Given the description of an element on the screen output the (x, y) to click on. 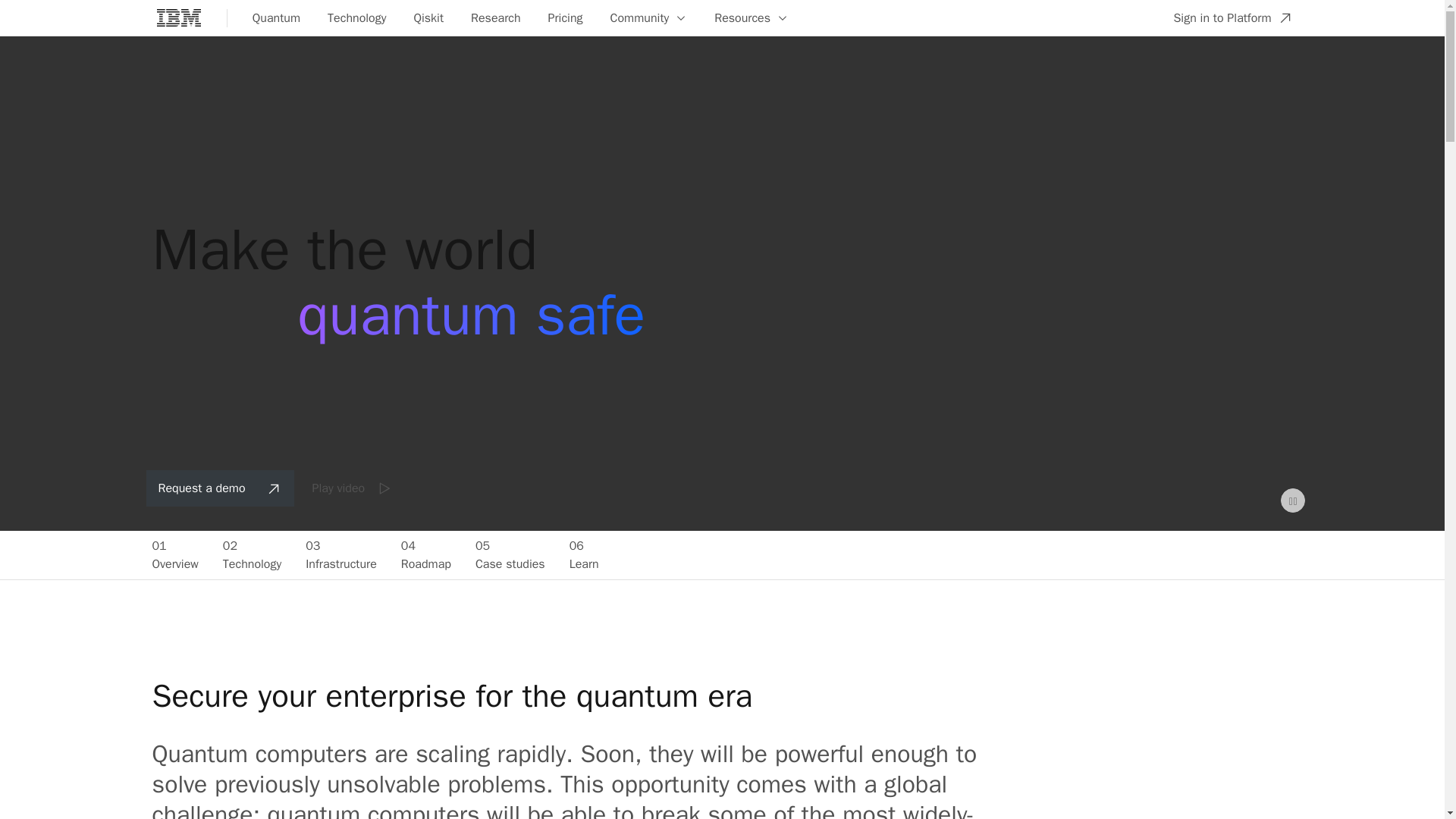
Skip to main content (584, 554)
Technology (353, 487)
Resources (356, 18)
Qiskit (425, 554)
Request a demo (751, 18)
Sign in to Platform (427, 18)
Quantum (219, 488)
Research (1232, 18)
Pricing (276, 18)
